Given the description of an element on the screen output the (x, y) to click on. 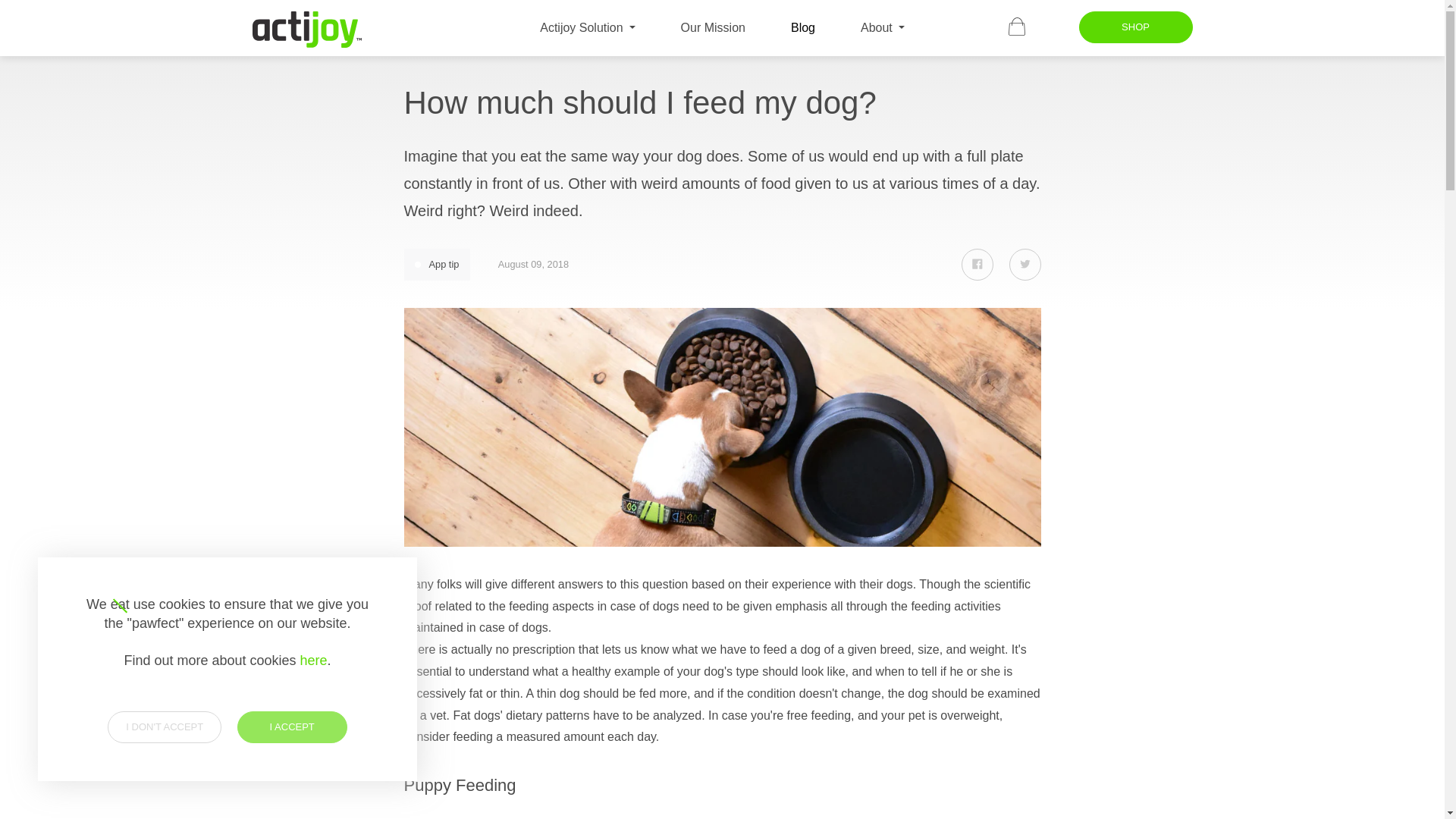
Blog (1025, 264)
App tip (802, 27)
Our Mission (976, 264)
SHOP (436, 264)
